Given the description of an element on the screen output the (x, y) to click on. 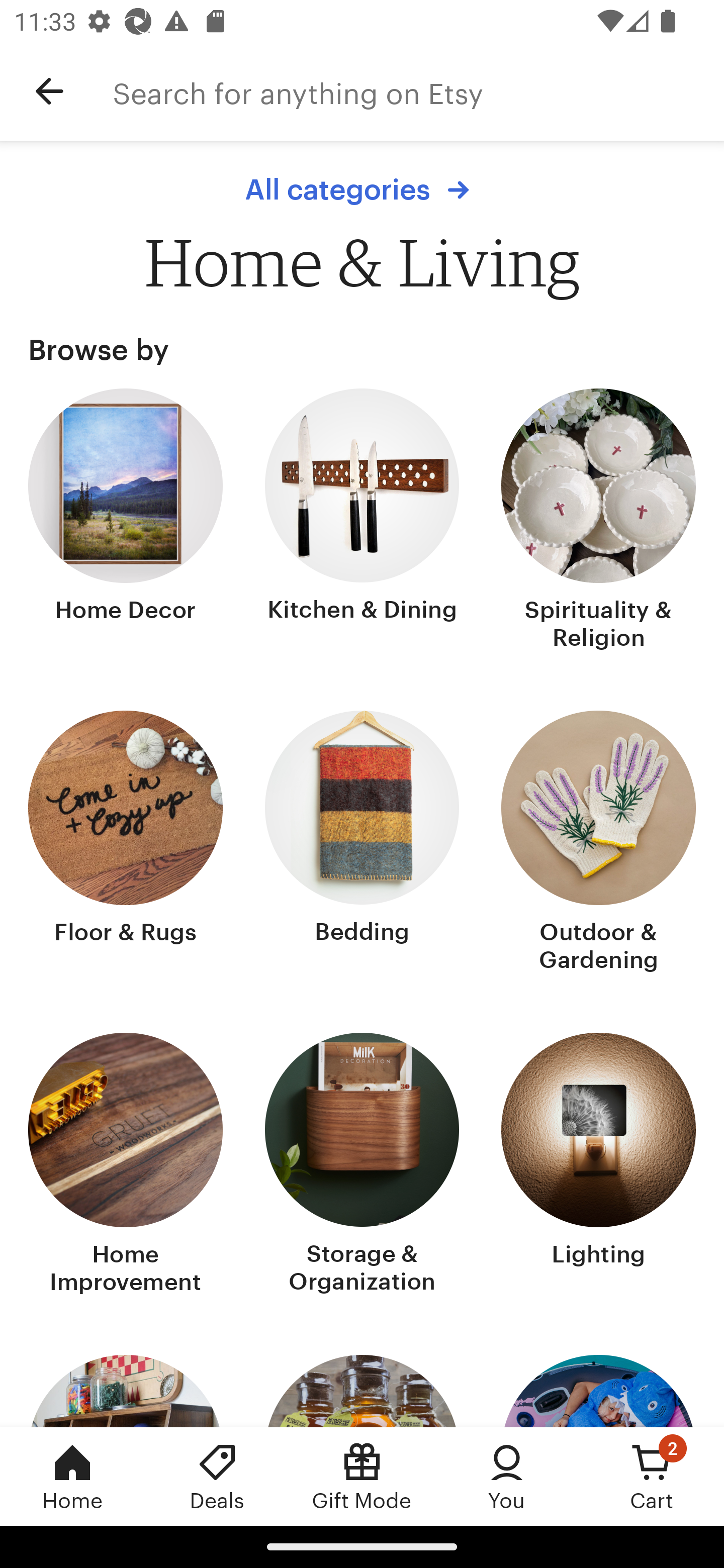
Navigate up (49, 91)
Search for anything on Etsy (418, 91)
All categories (361, 189)
Home Decor (125, 520)
Kitchen & Dining (361, 520)
Spirituality & Religion (598, 520)
Floor & Rugs (125, 843)
Bedding (361, 843)
Outdoor & Gardening (598, 843)
Home Improvement (125, 1165)
Storage & Organization (361, 1165)
Lighting (598, 1165)
Deals (216, 1475)
Gift Mode (361, 1475)
You (506, 1475)
Cart, 2 new notifications Cart (651, 1475)
